Given the description of an element on the screen output the (x, y) to click on. 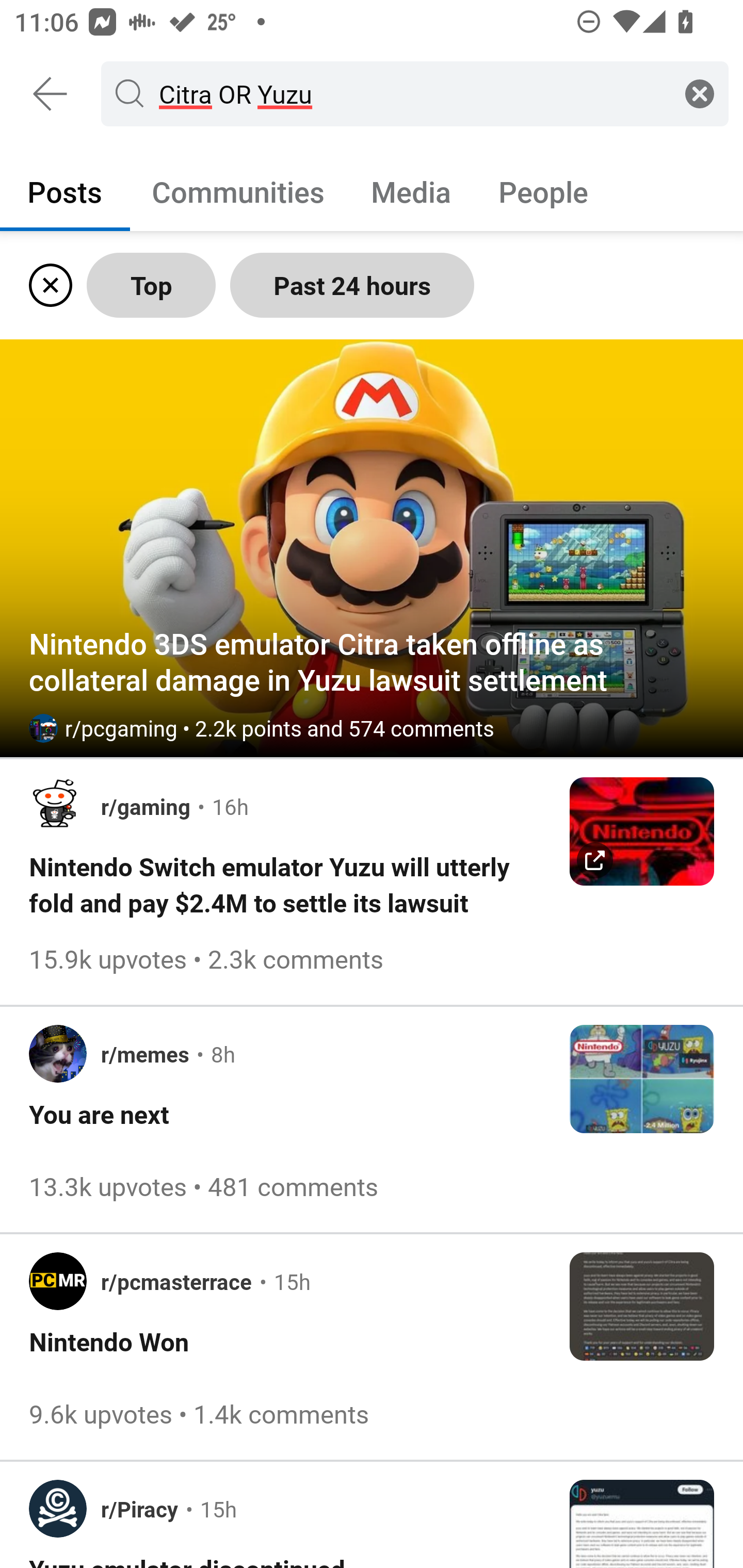
Back (50, 93)
Citra OR Yuzu (410, 93)
Clear search (699, 93)
Communities (238, 191)
Media (411, 191)
People (542, 191)
Clear active filters (46, 285)
Top Sort by Top (150, 285)
Past 24 hours Filter Time by Past 24 hours (352, 285)
